Given the description of an element on the screen output the (x, y) to click on. 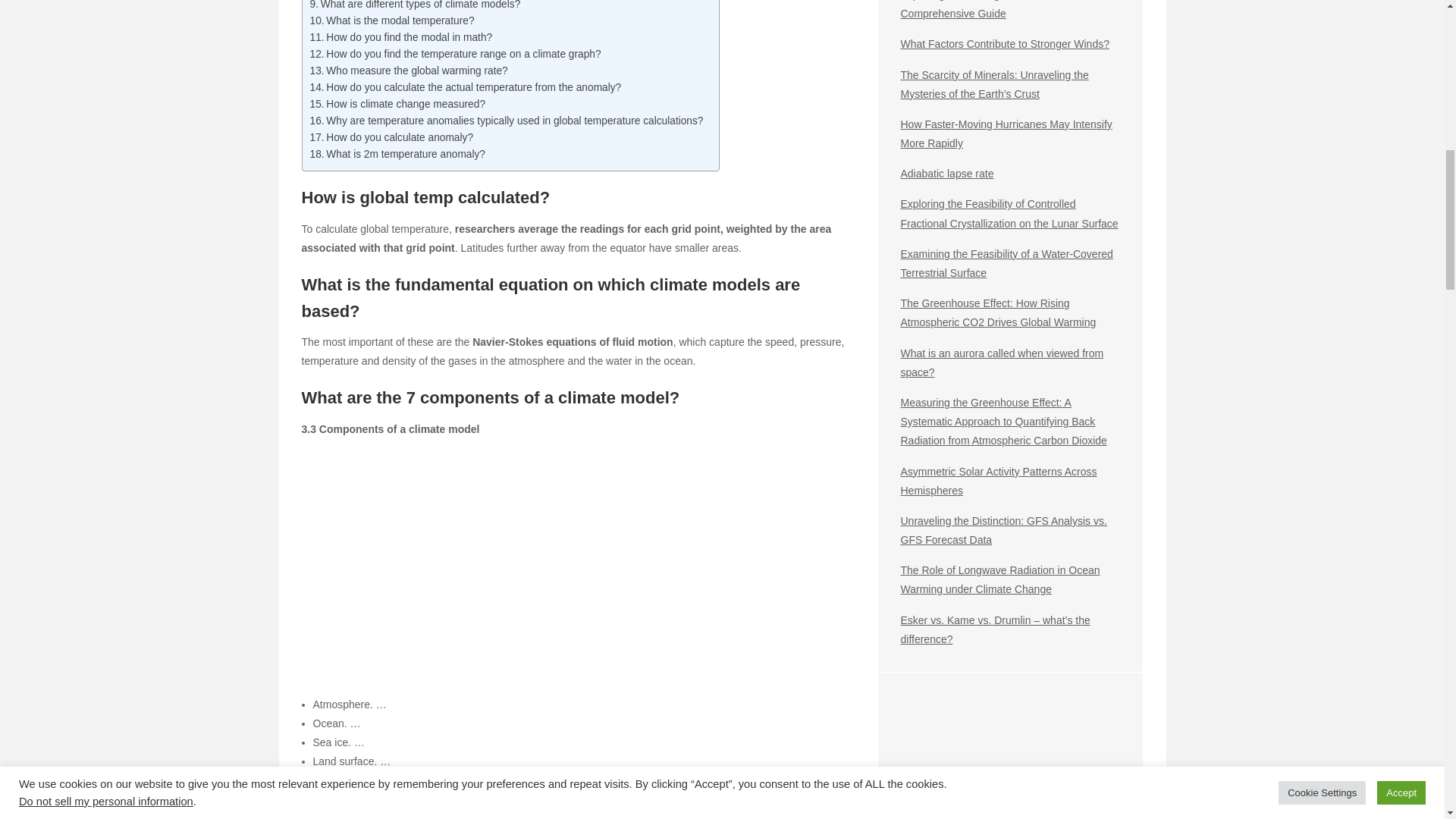
How do you find the modal in math? (400, 37)
How do you find the temperature range on a climate graph? (453, 54)
What are different types of climate models? (413, 6)
What is the modal temperature? (391, 21)
What are different types of climate models? (413, 6)
Who measure the global warming rate? (407, 71)
How do you find the modal in math? (400, 37)
What is the modal temperature? (391, 21)
